Given the description of an element on the screen output the (x, y) to click on. 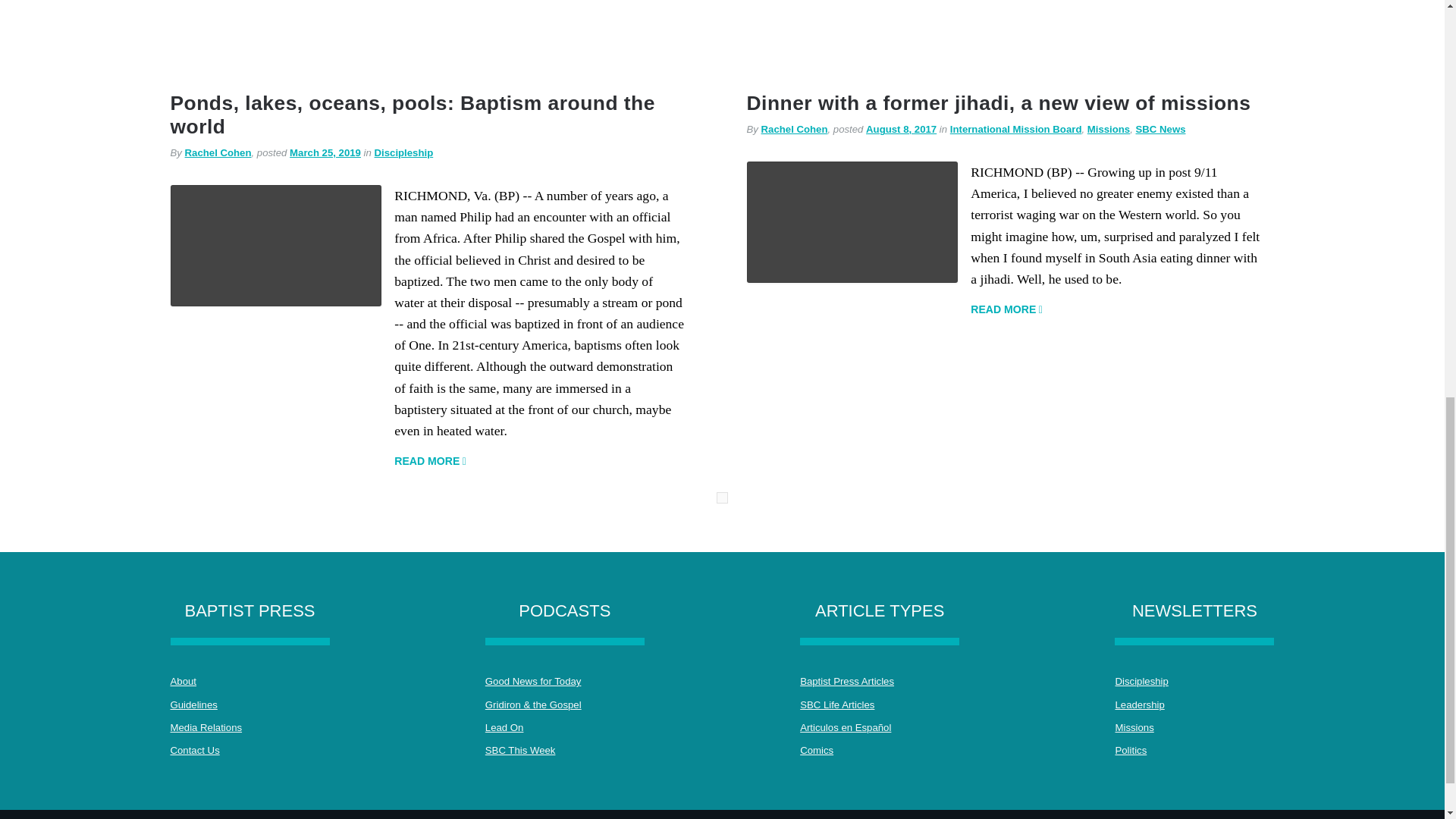
August 8, 2017 (901, 129)
Rachel Cohen (794, 129)
Dinner with a former jihadi, a new view of missions (997, 102)
Ponds, lakes, oceans, pools: Baptism around the world (411, 114)
March 25, 2019 (325, 152)
Rachel Cohen (217, 152)
Discipleship (403, 152)
READ MORE (429, 461)
